Given the description of an element on the screen output the (x, y) to click on. 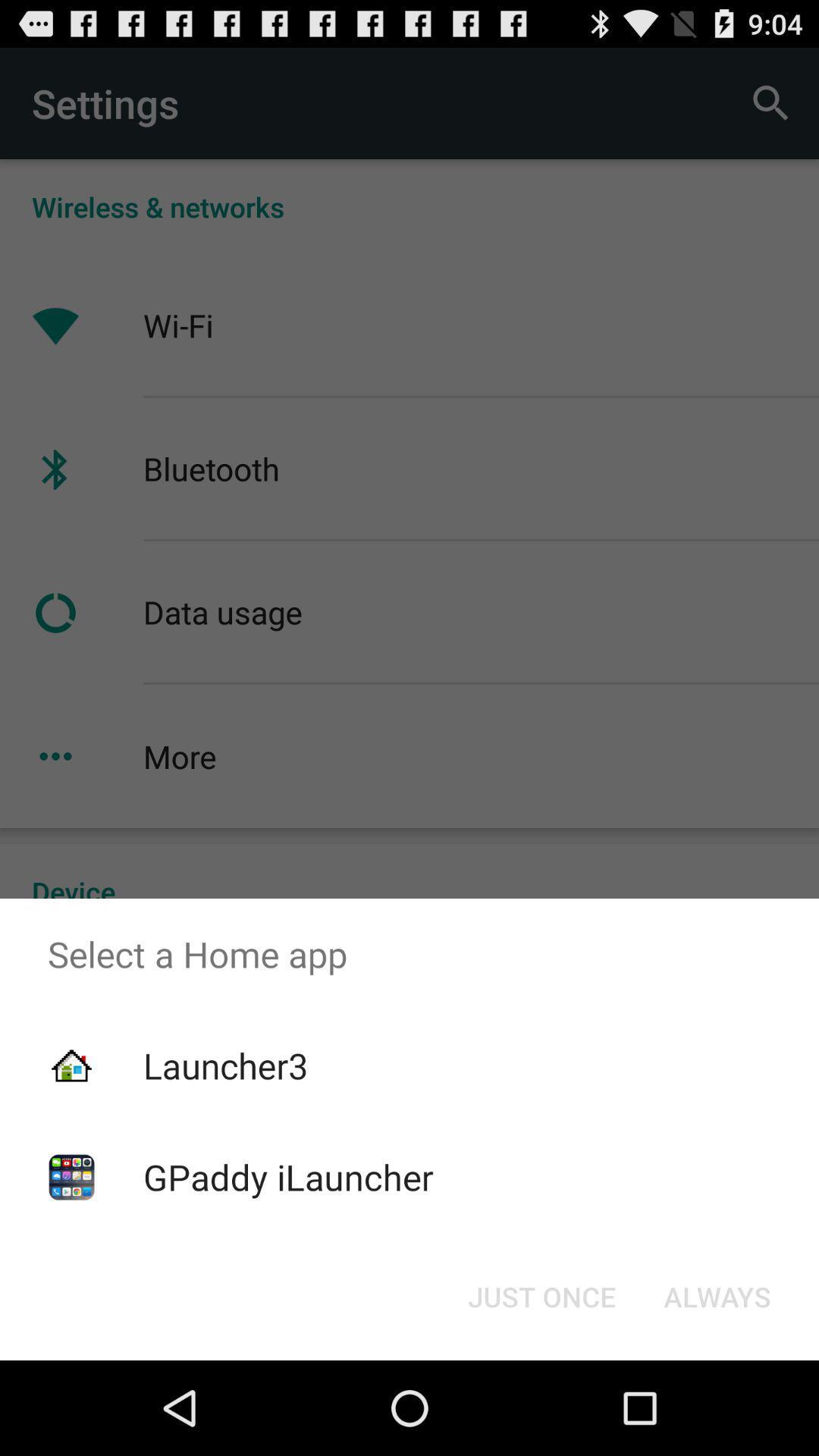
tap icon below select a home item (225, 1065)
